Given the description of an element on the screen output the (x, y) to click on. 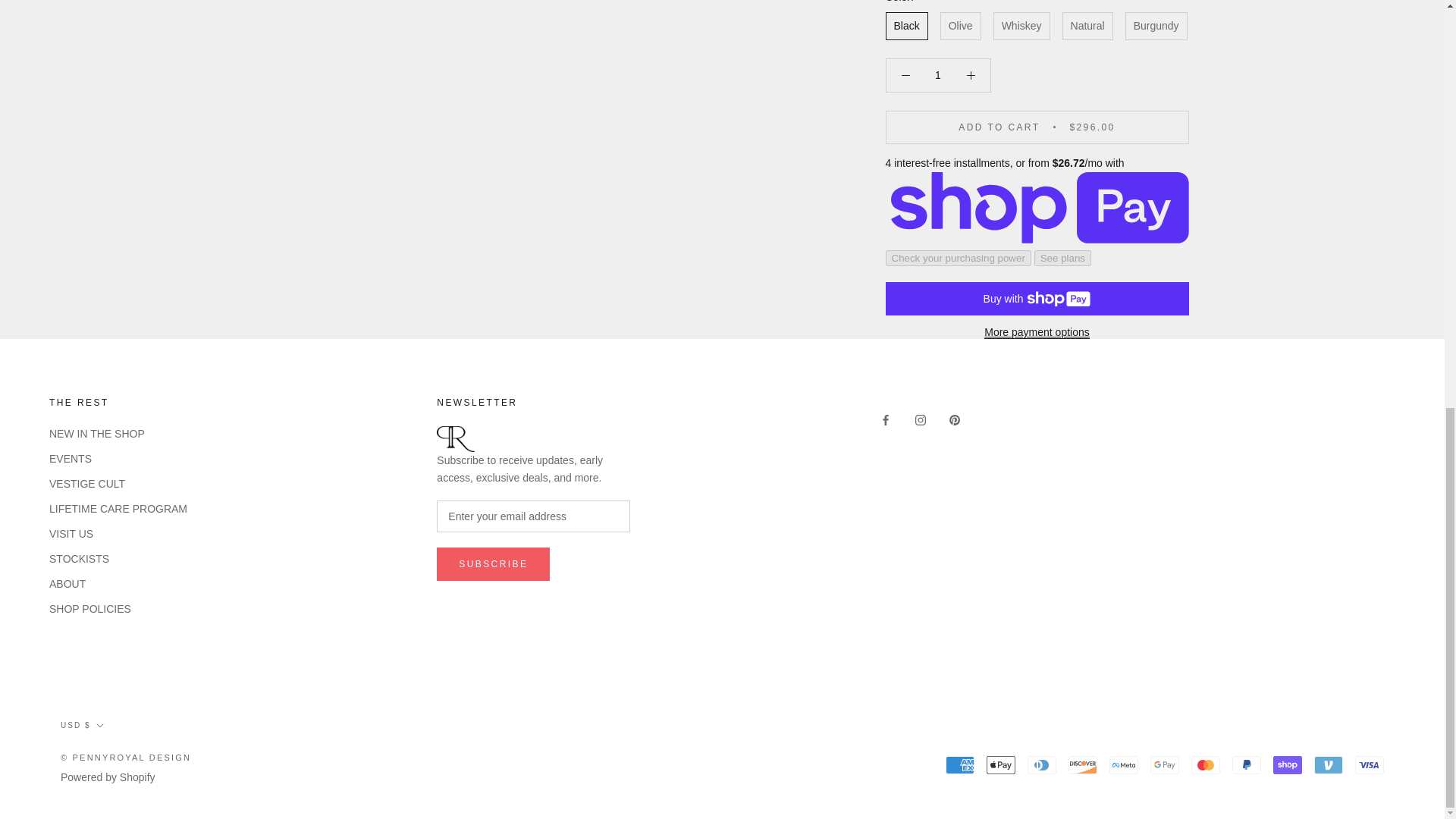
Discover (1082, 764)
Meta Pay (1123, 764)
Mastercard (1205, 764)
Apple Pay (1000, 764)
Google Pay (1164, 764)
Diners Club (1042, 764)
1 (938, 74)
American Express (959, 764)
